Given the description of an element on the screen output the (x, y) to click on. 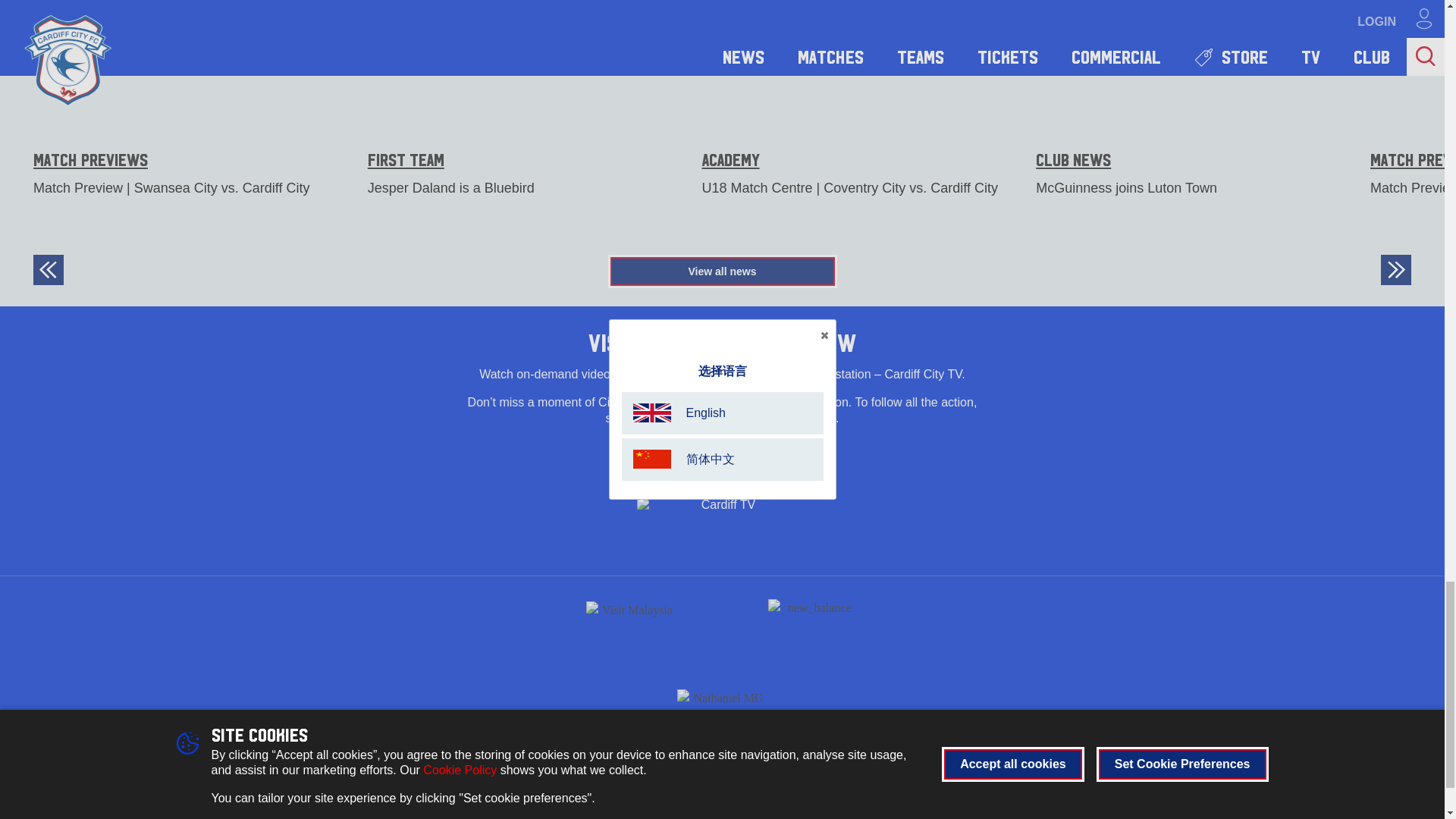
Nathaniel Cars (722, 695)
Visit Malaysia (631, 627)
New Balance (813, 627)
